Given the description of an element on the screen output the (x, y) to click on. 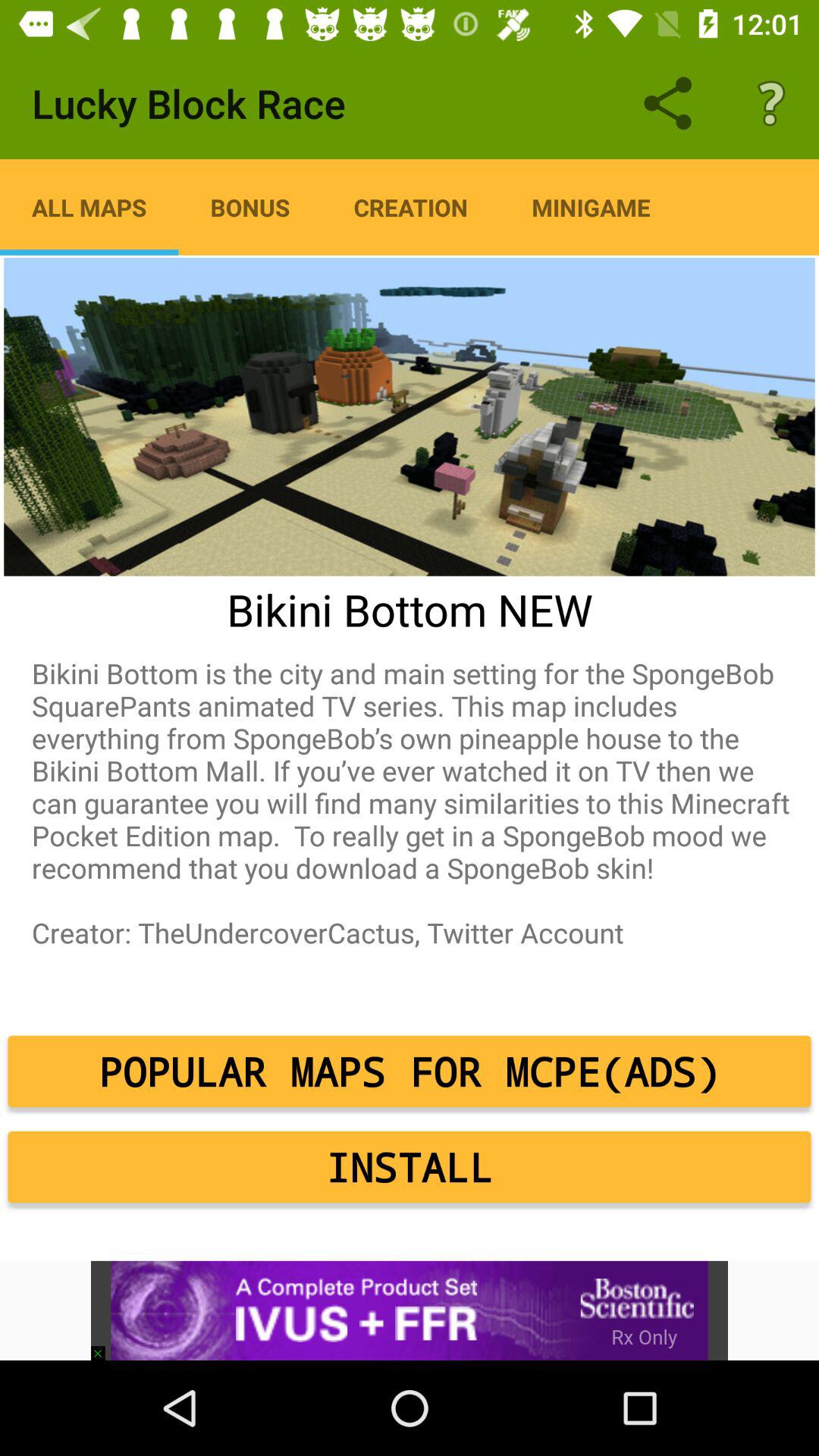
choose icon below the bikini bottom is (409, 1071)
